Given the description of an element on the screen output the (x, y) to click on. 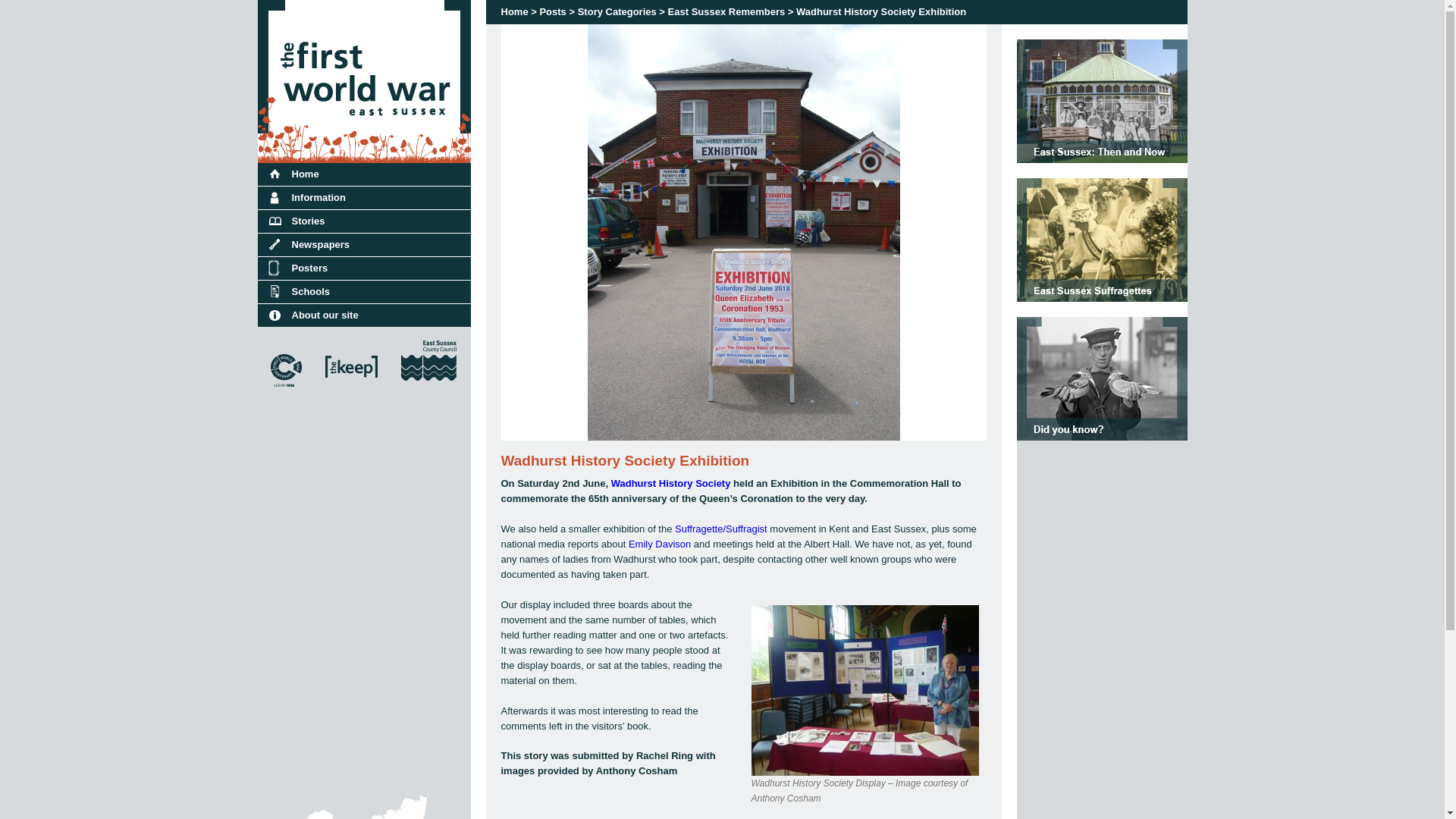
Then and Now (1101, 100)
Go to Posts. (552, 11)
About our site (363, 314)
Posts (552, 11)
Featured Story (1101, 238)
Go to the Story Categories category archives. (617, 11)
IWM First World War Centenary (285, 392)
The Keep (352, 392)
Stories (363, 220)
Short stories and facts about the First World War. (1101, 378)
